Given the description of an element on the screen output the (x, y) to click on. 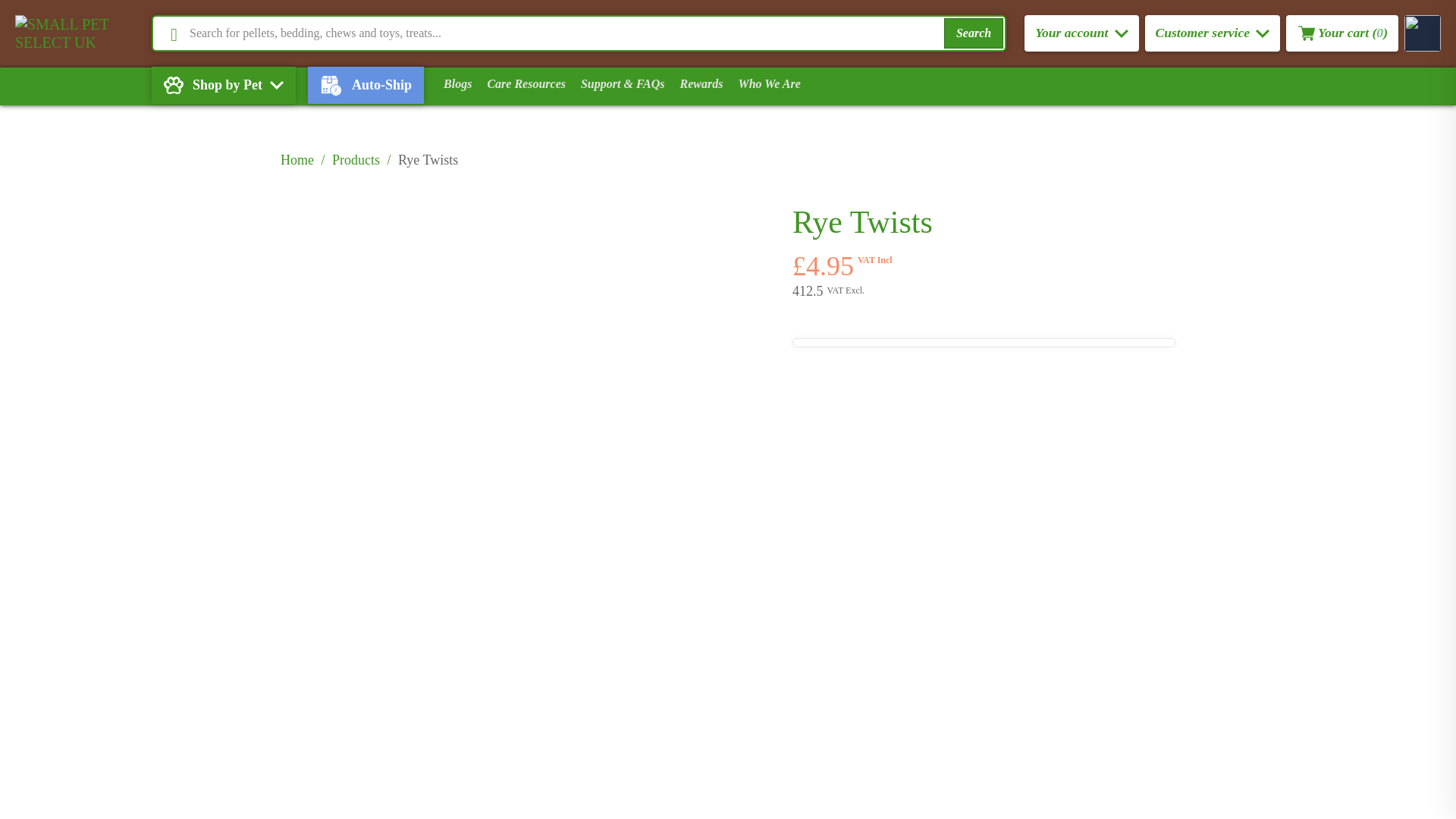
Small Pet Select UK (82, 33)
Blogs (457, 84)
Auto-Ship (365, 85)
Shop by Pet (223, 85)
Who We Are (769, 84)
Search (973, 33)
Care Resources (526, 84)
Auto-Ship (371, 84)
Rewards (701, 84)
